Given the description of an element on the screen output the (x, y) to click on. 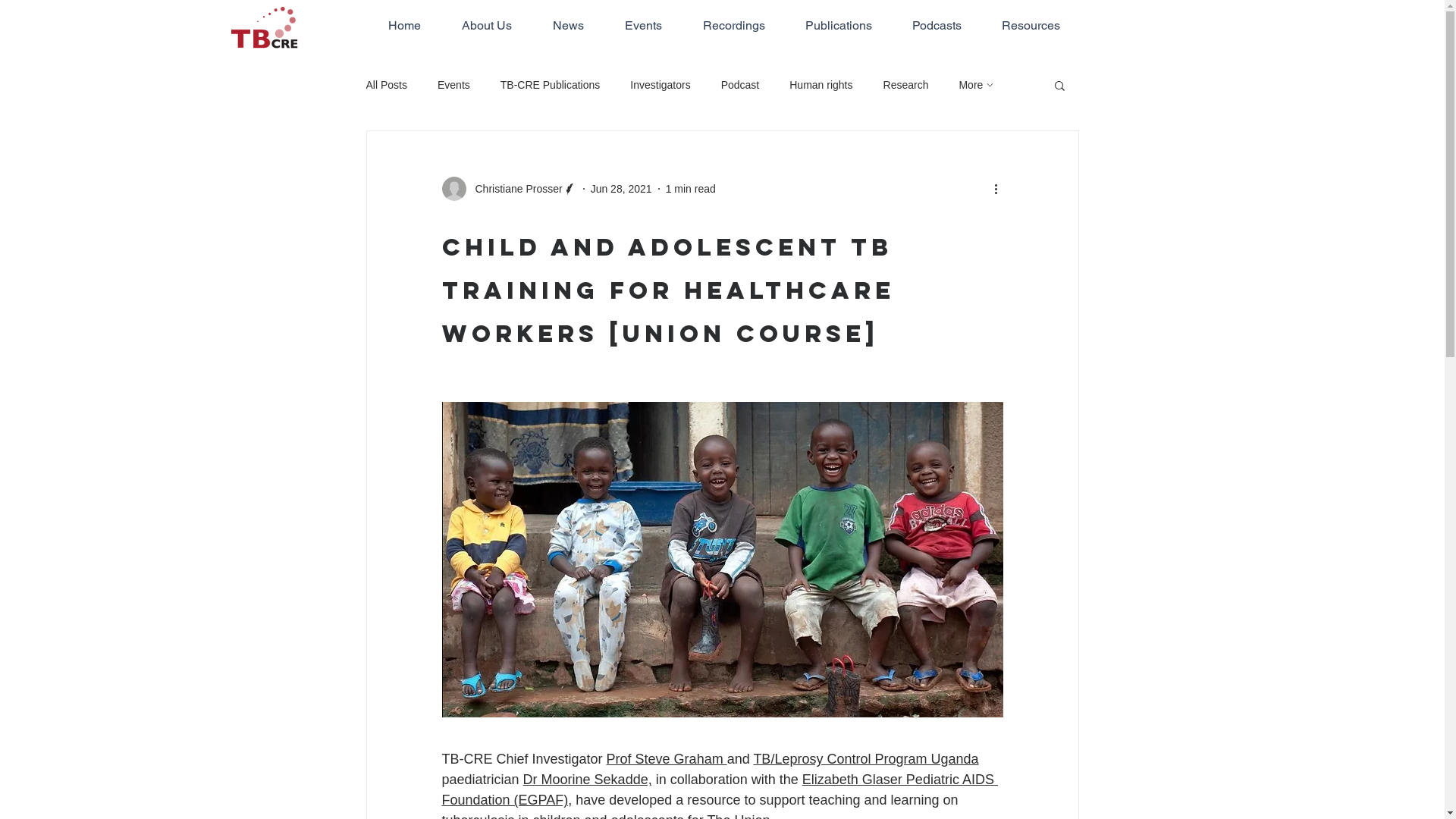
Podcast Element type: text (740, 84)
Christiane Prosser Element type: text (508, 188)
Publications Element type: text (838, 24)
About Us Element type: text (486, 24)
Elizabeth Glaser Pediatric AIDS Foundation (EGPAF), Element type: text (719, 789)
Events Element type: text (643, 24)
TB/Leprosy Control Program Uganda Element type: text (865, 758)
Prof Steve Graham  Element type: text (666, 758)
Human rights Element type: text (820, 84)
Events Element type: text (453, 84)
All Posts Element type: text (385, 84)
Resources Element type: text (1030, 24)
Recordings Element type: text (733, 24)
News Element type: text (567, 24)
Research Element type: text (905, 84)
Podcasts Element type: text (935, 24)
Home Element type: text (404, 24)
Dr Moorine Sekadde, Element type: text (587, 779)
TB-CRE Publications Element type: text (550, 84)
Investigators Element type: text (660, 84)
